Given the description of an element on the screen output the (x, y) to click on. 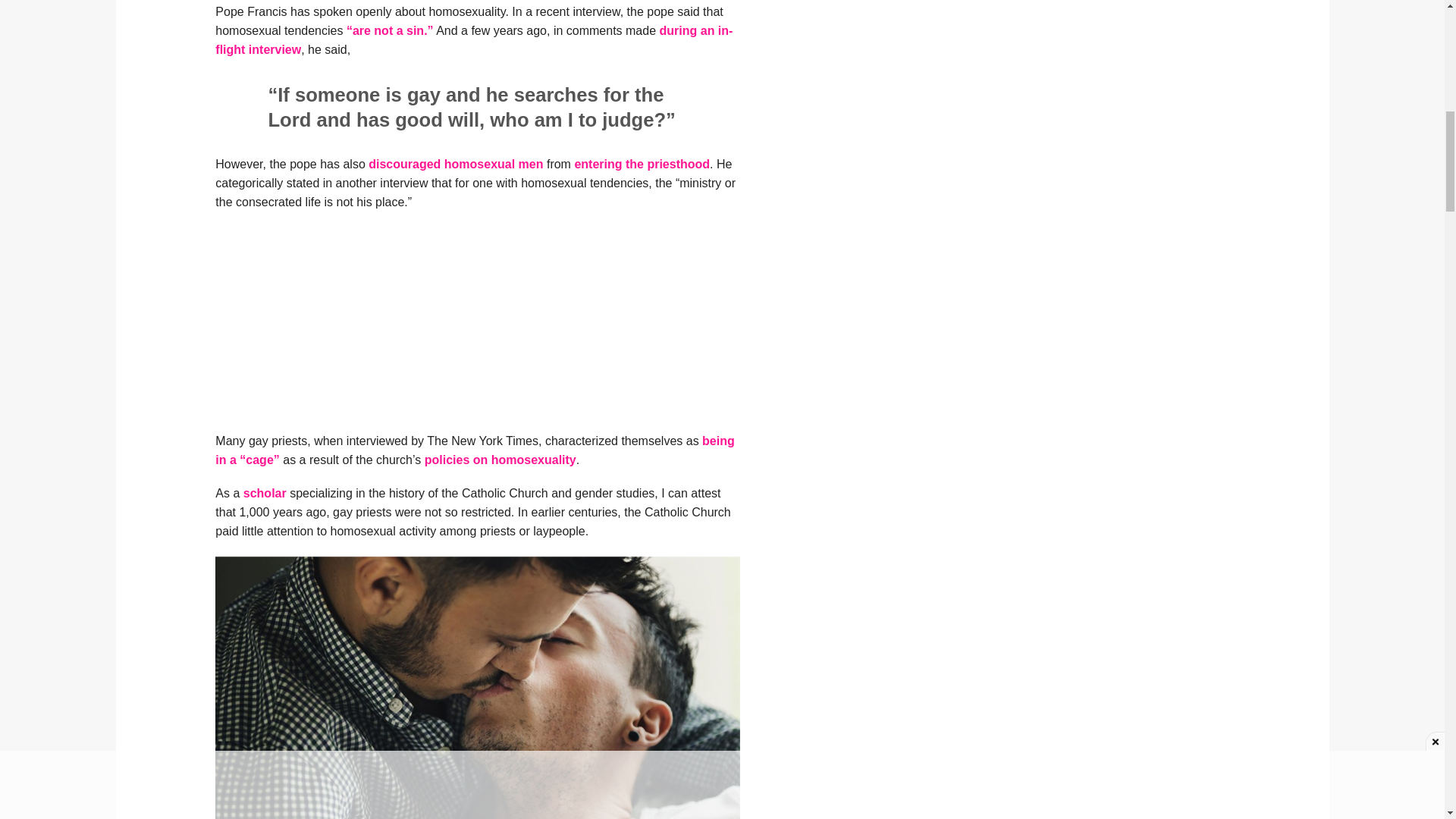
entering the priesthood (641, 164)
discouraged homosexual men (455, 164)
3rd party ad content (477, 330)
policies on homosexuality (500, 459)
during an in-flight interview (473, 40)
